Given the description of an element on the screen output the (x, y) to click on. 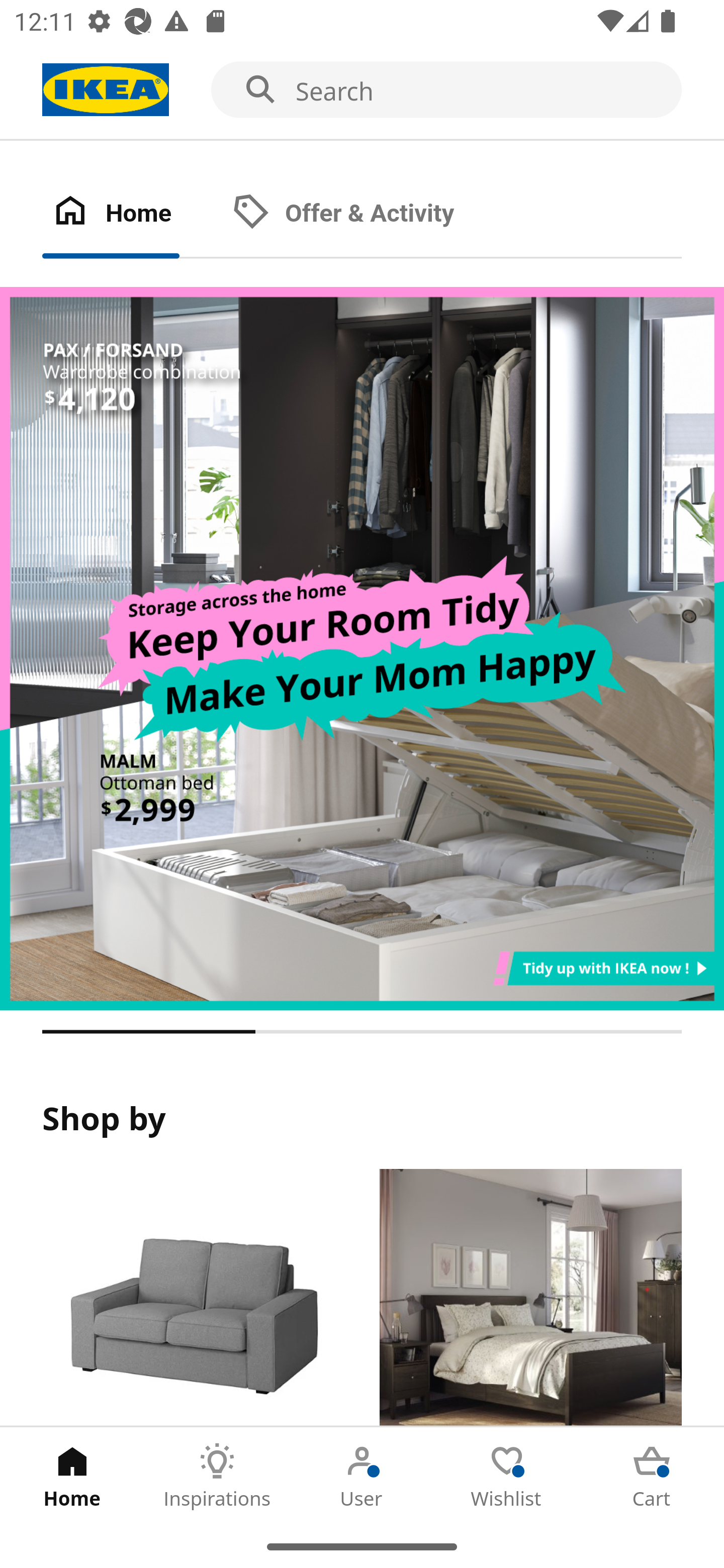
Search (361, 90)
Home
Tab 1 of 2 (131, 213)
Offer & Activity
Tab 2 of 2 (363, 213)
Products (192, 1297)
Rooms (530, 1297)
Home
Tab 1 of 5 (72, 1476)
Inspirations
Tab 2 of 5 (216, 1476)
User
Tab 3 of 5 (361, 1476)
Wishlist
Tab 4 of 5 (506, 1476)
Cart
Tab 5 of 5 (651, 1476)
